Given the description of an element on the screen output the (x, y) to click on. 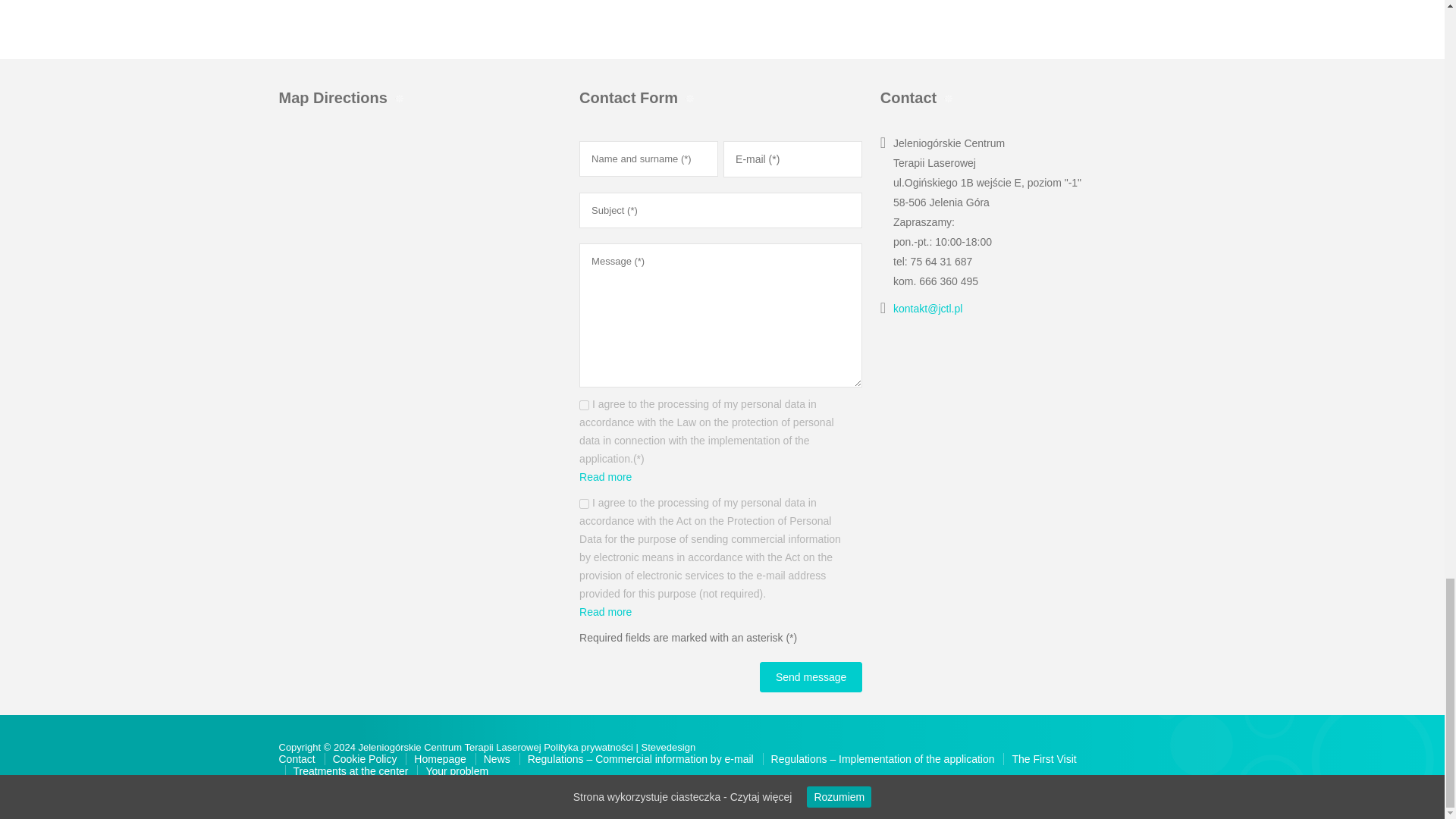
Stevedesign - Tworzenie stron internetowych (668, 747)
1 (584, 405)
Send message (810, 676)
